Given the description of an element on the screen output the (x, y) to click on. 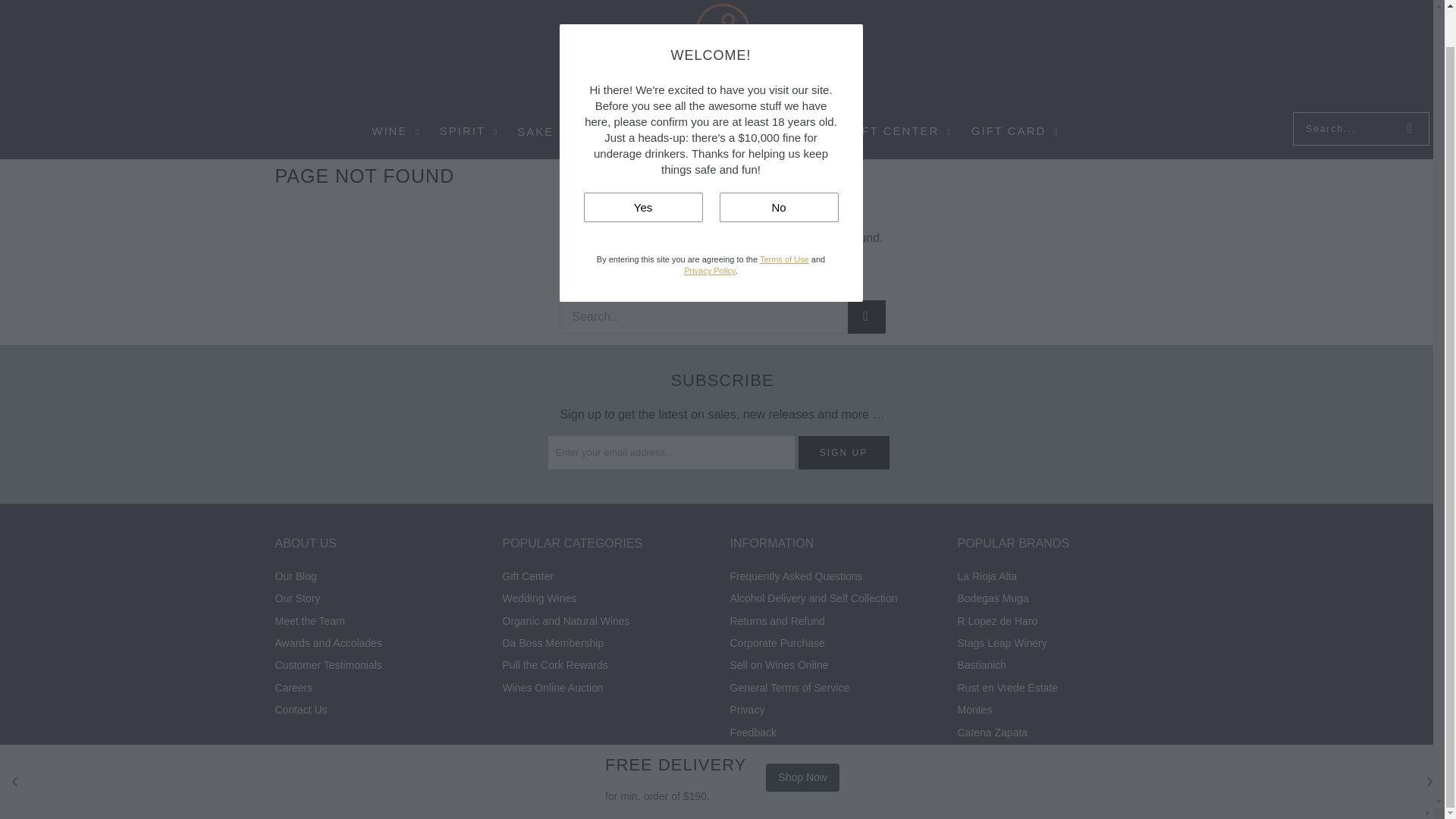
No (778, 168)
Mastercard (1032, 780)
Shop Now (802, 737)
Sign Up (842, 452)
Union Pay (1112, 780)
Google Pay (993, 780)
Apple Pay (954, 780)
Yes (643, 168)
American Express (914, 780)
Wines Online Singapore (721, 56)
PayPal (1072, 780)
Visa (1150, 780)
